Given the description of an element on the screen output the (x, y) to click on. 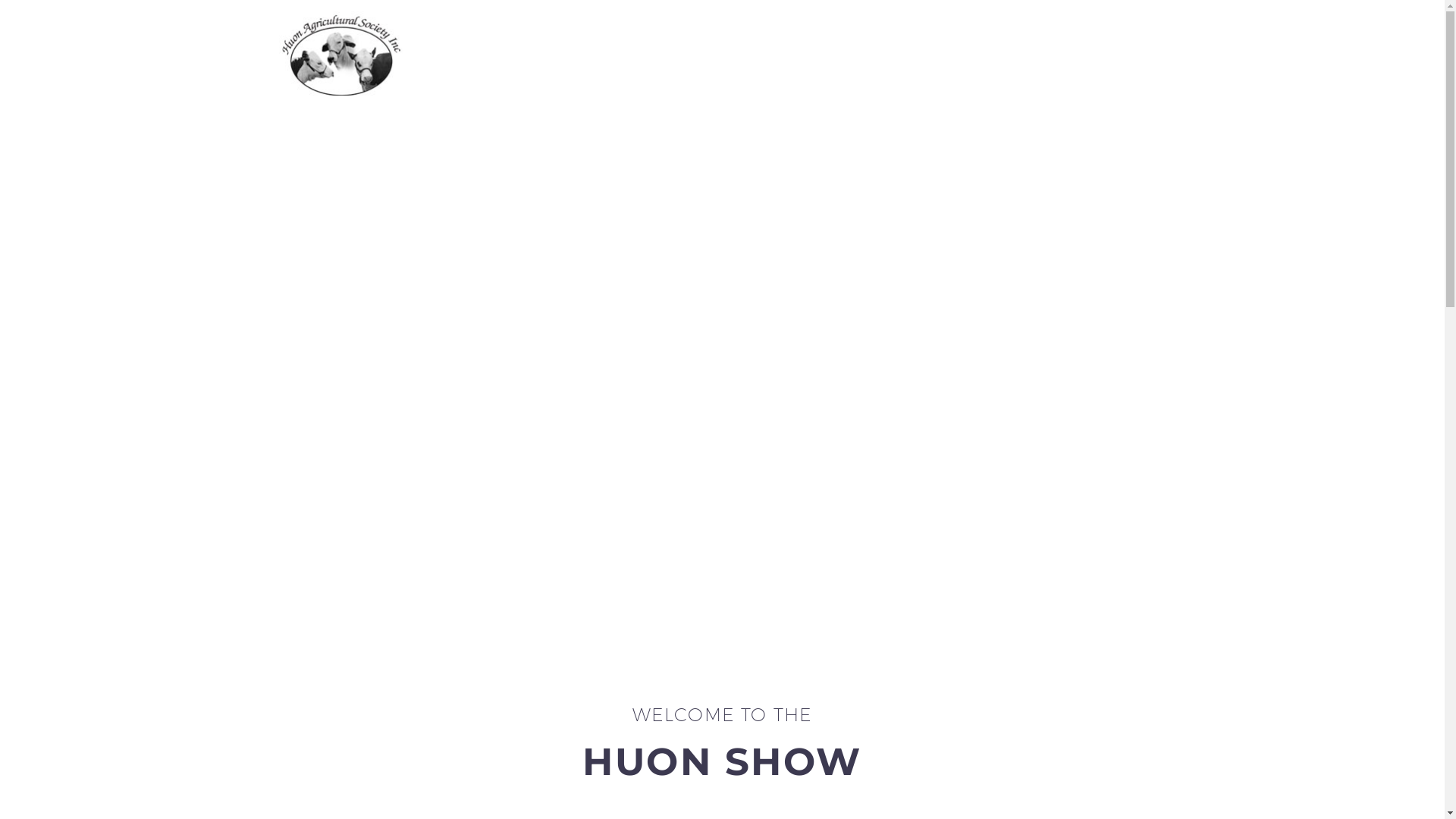
CONTACT US Element type: text (1097, 53)
SCHEDULES Element type: text (801, 53)
SPONSORS Element type: text (1002, 53)
APPLICATIONS Element type: text (697, 53)
INFORMATION Element type: text (902, 53)
HOME Element type: text (612, 54)
